Given the description of an element on the screen output the (x, y) to click on. 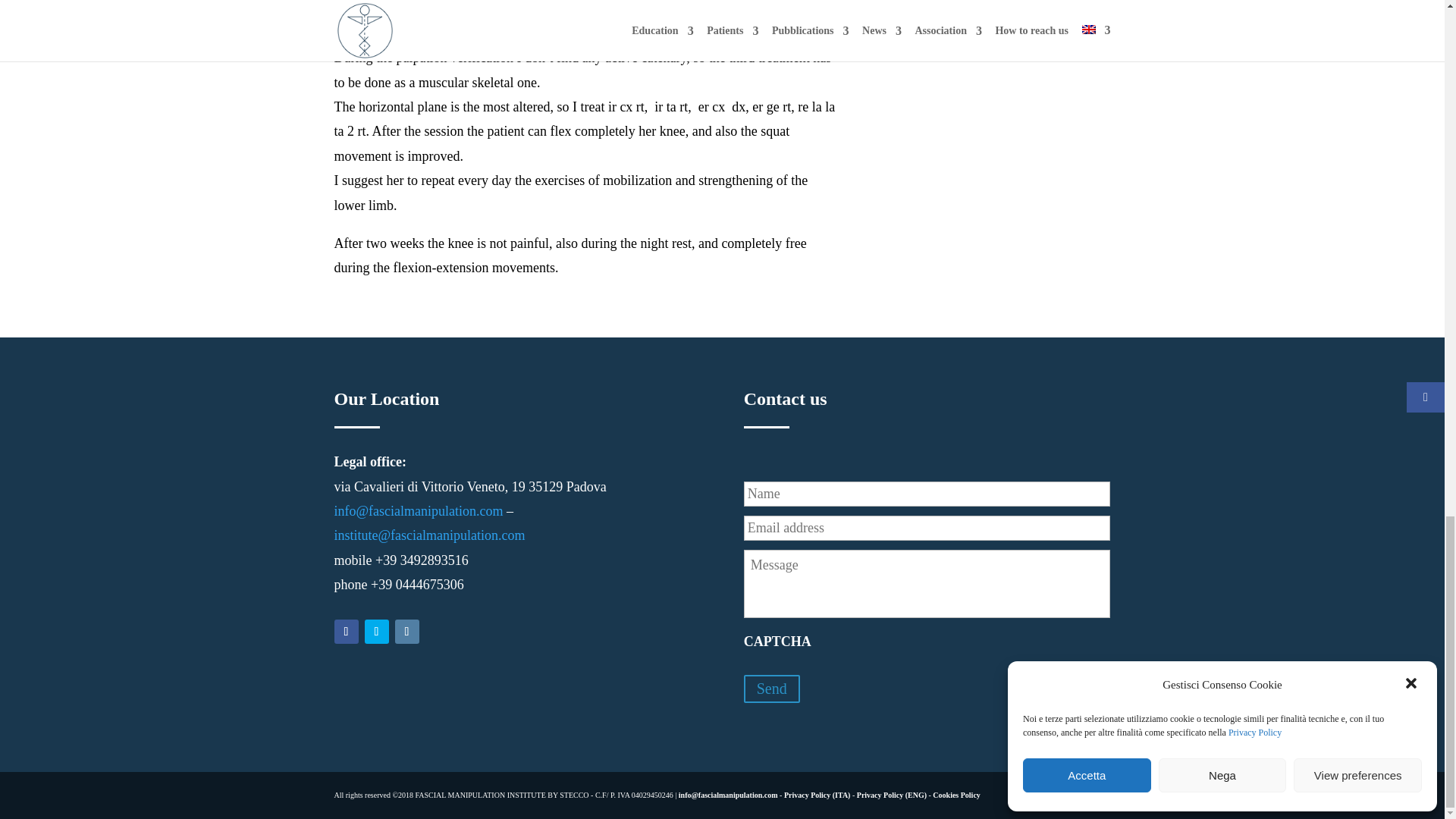
Twitter (376, 631)
Instagram (406, 631)
Facebook (345, 631)
Send (771, 688)
